Given the description of an element on the screen output the (x, y) to click on. 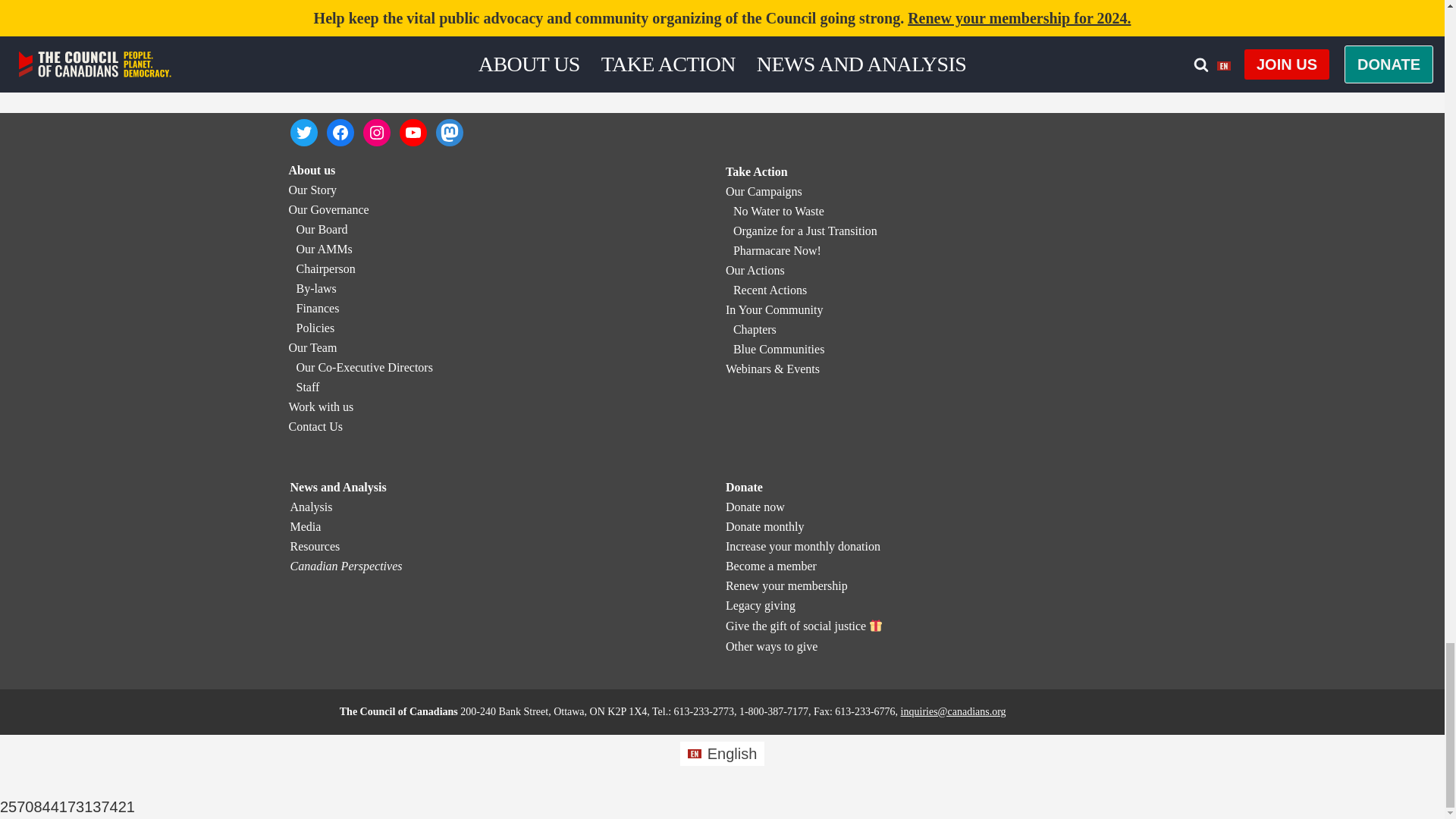
Barlow challenges the TPP at Toronto town hall (906, 1)
About us (311, 169)
Our Story (312, 189)
Our Board (321, 228)
Windsor-Essex chapter at Trans-Pacific Partnership town hall (500, 1)
Barlow challenges the TPP at Toronto town hall (906, 1)
Windsor-Essex chapter at Trans-Pacific Partnership town hall (500, 1)
Our Governance (328, 209)
